Given the description of an element on the screen output the (x, y) to click on. 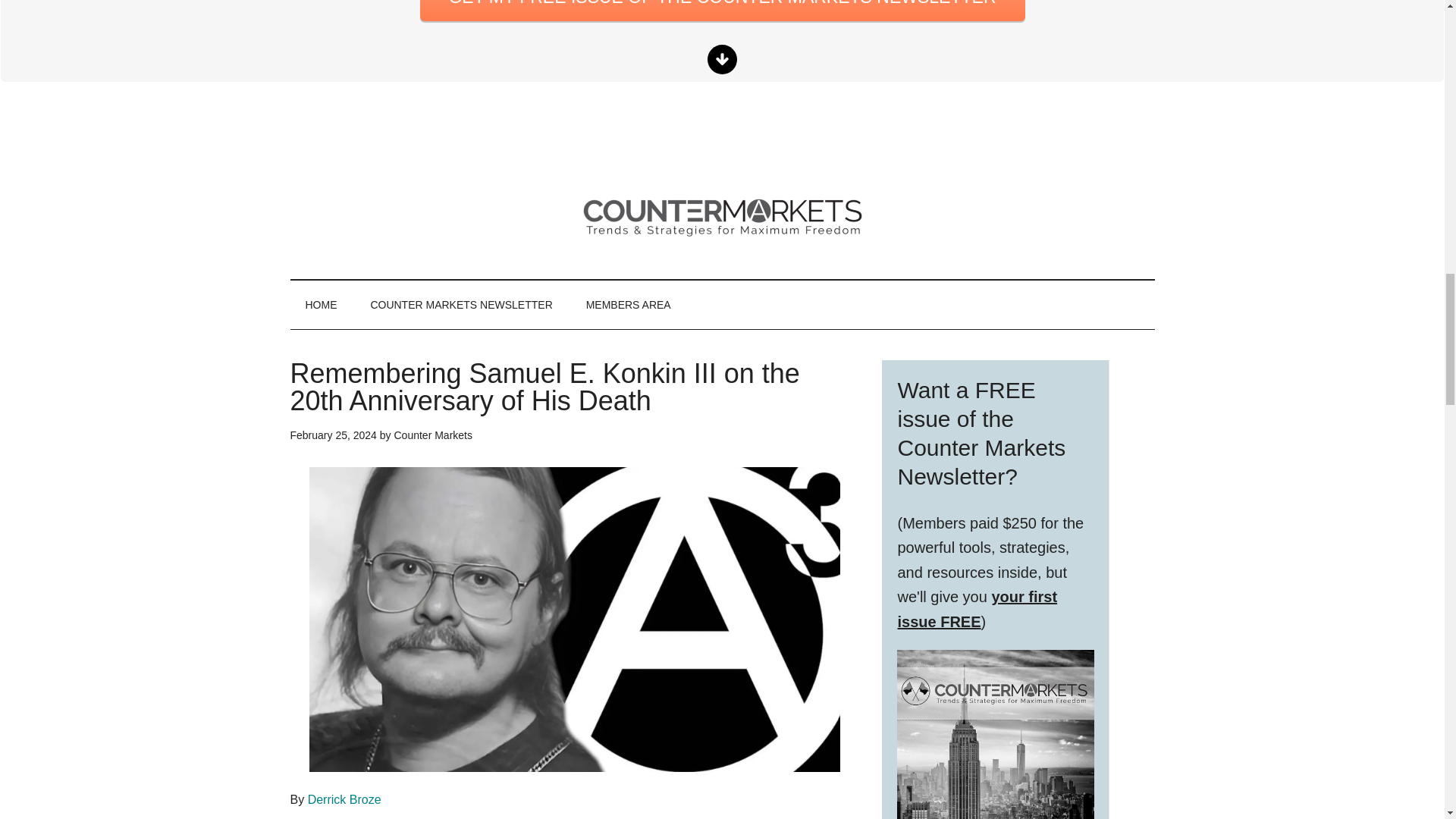
HOME (320, 304)
Counter Markets (432, 435)
COUNTER MARKETS NEWSLETTER (461, 304)
Counter Markets (721, 214)
MEMBERS AREA (627, 304)
GET MY FREE ISSUE OF THE COUNTER MARKETS NEWSLETTER (722, 10)
countermarketscover (994, 734)
Derrick Broze (344, 799)
